Given the description of an element on the screen output the (x, y) to click on. 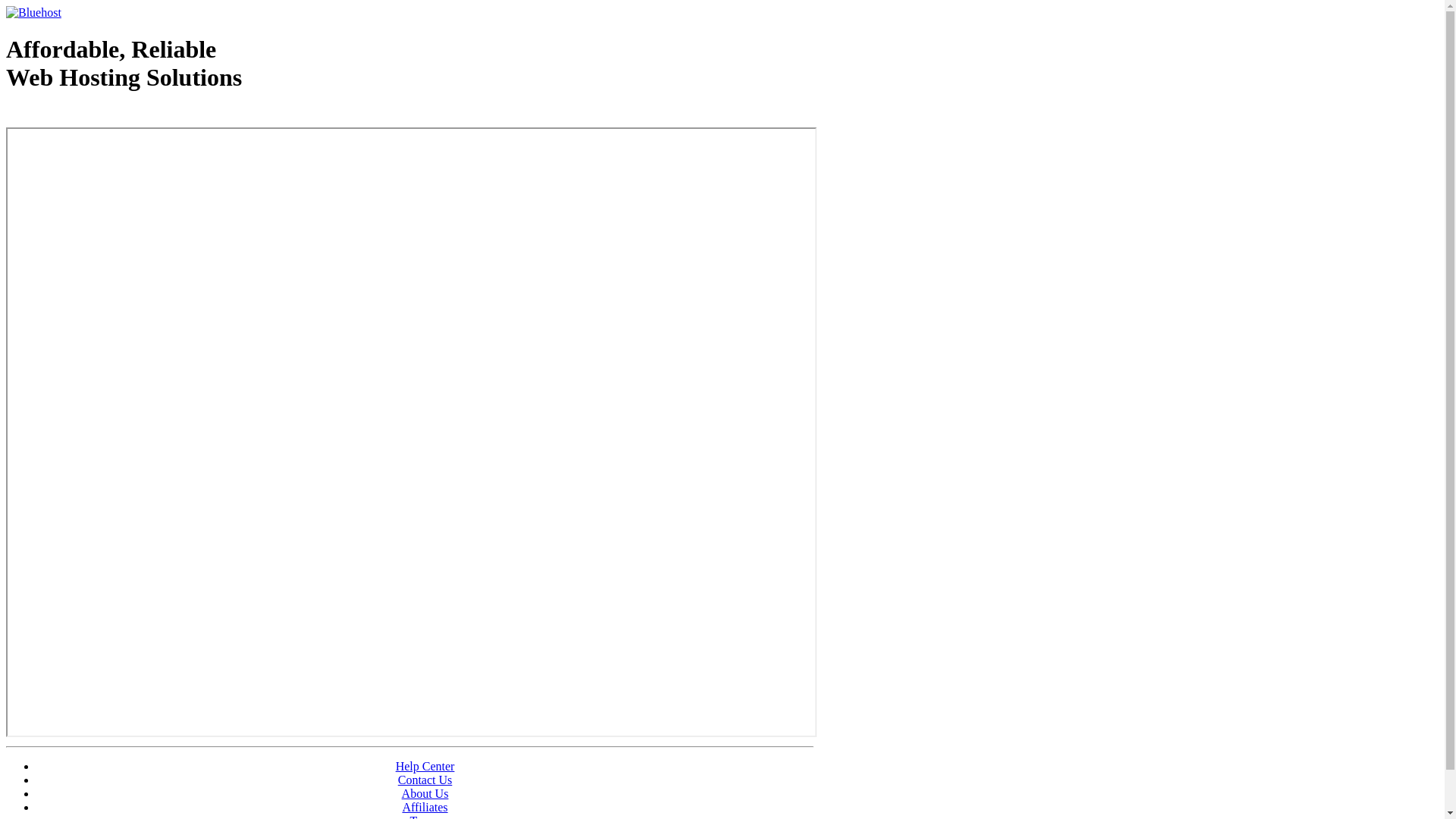
About Us Element type: text (424, 793)
Affiliates Element type: text (424, 806)
Contact Us Element type: text (425, 779)
Web Hosting - courtesy of www.bluehost.com Element type: text (94, 115)
Help Center Element type: text (425, 765)
